Given the description of an element on the screen output the (x, y) to click on. 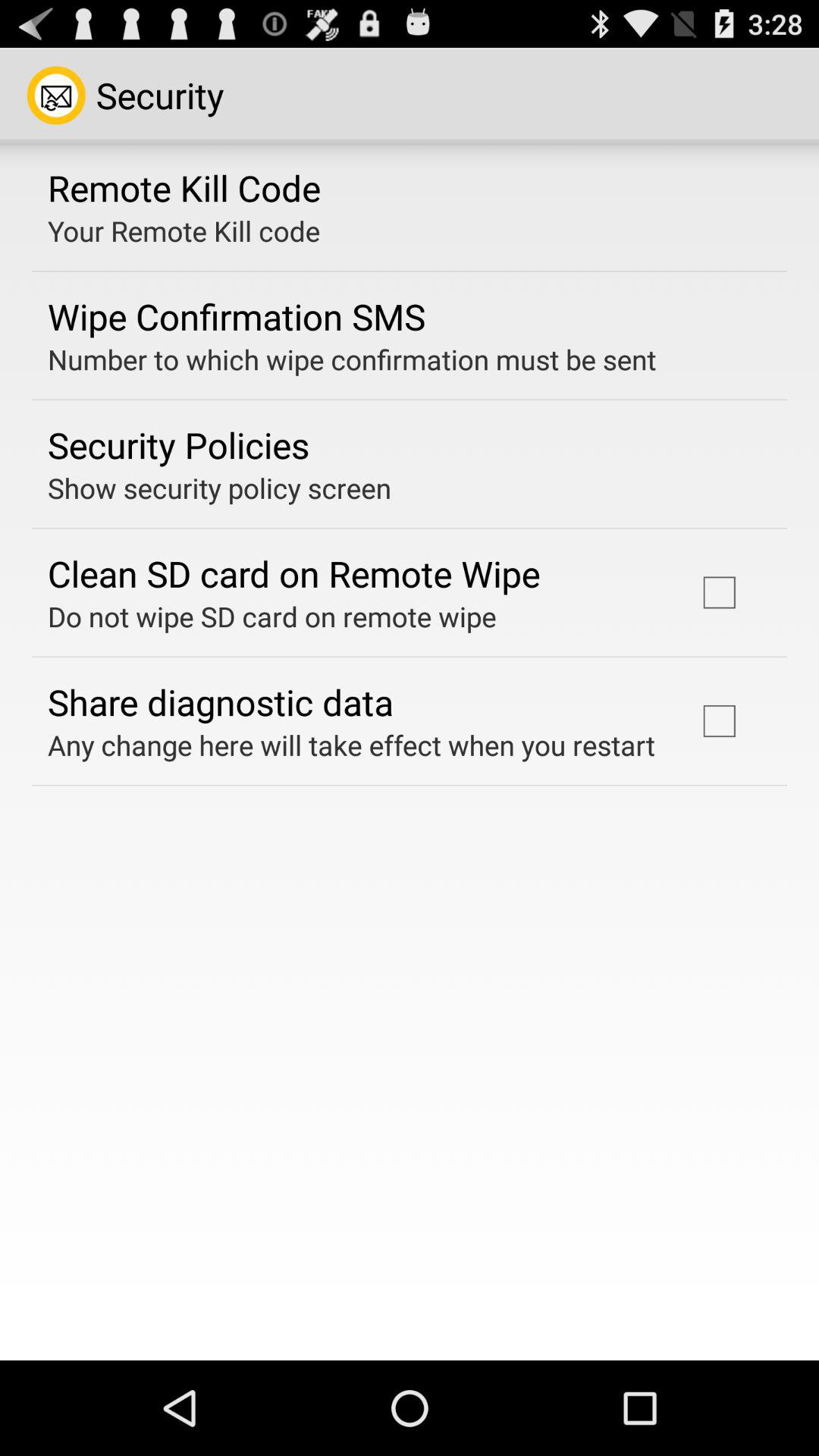
launch app below wipe confirmation sms icon (351, 359)
